Given the description of an element on the screen output the (x, y) to click on. 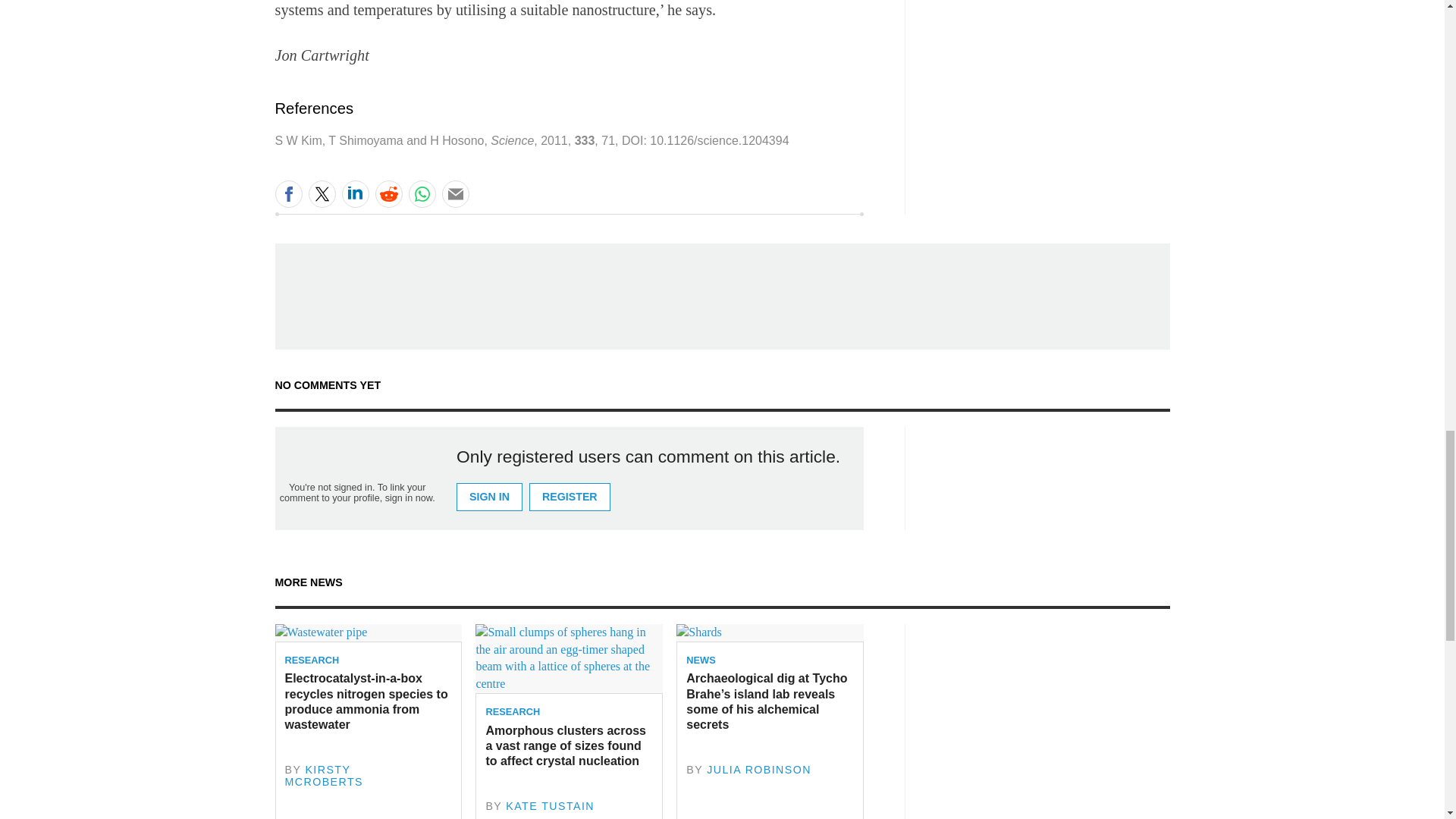
Share this on Facebook (288, 194)
Share this by email (454, 194)
Share this on WhatsApp (421, 194)
Share this on LinkedIn (354, 194)
Share this on Reddit (387, 194)
